Given the description of an element on the screen output the (x, y) to click on. 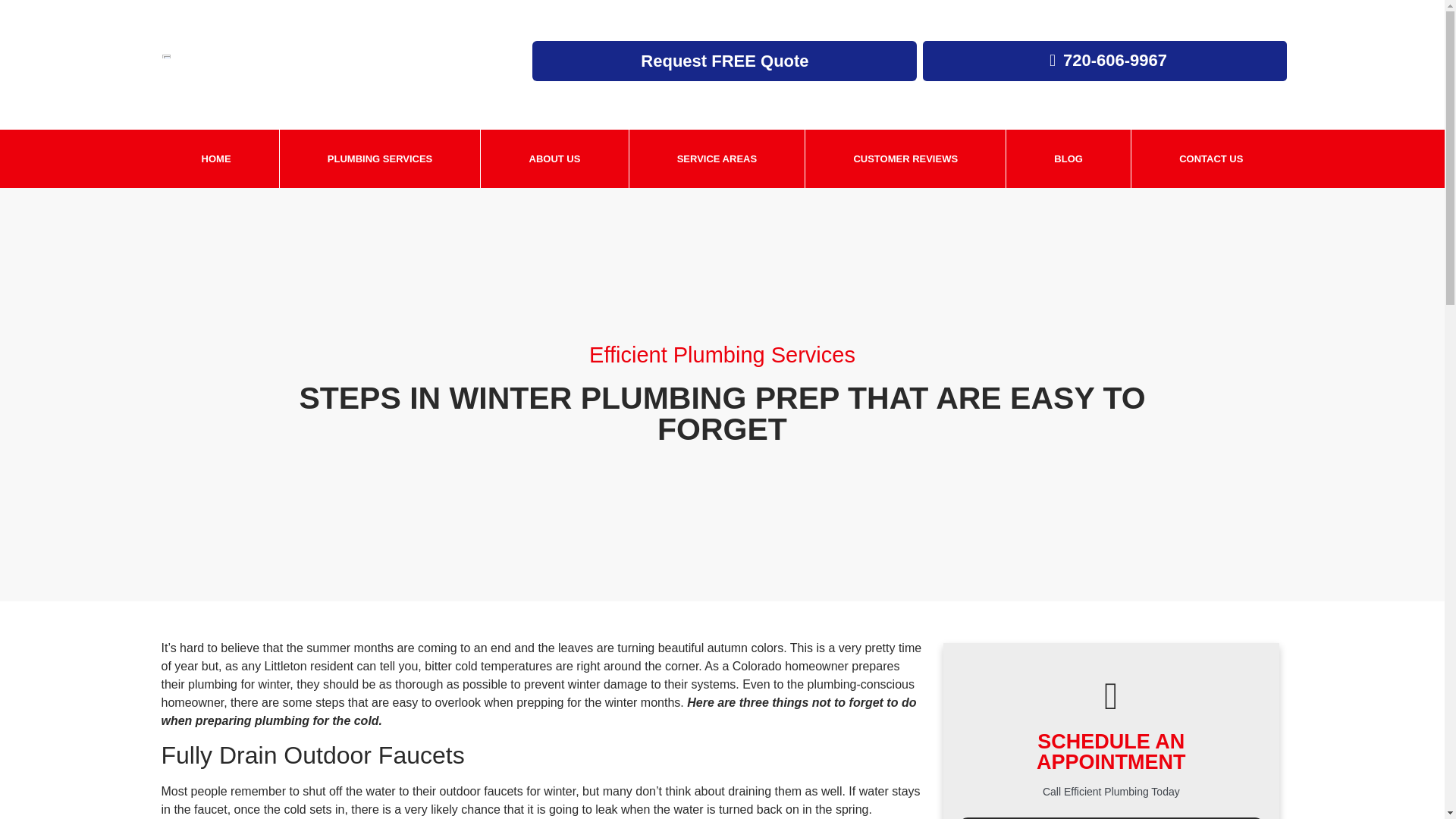
SERVICE AREAS (716, 158)
HOME (215, 158)
PLUMBING SERVICES (379, 158)
BLOG (1068, 158)
720-606-9967 (1108, 58)
CUSTOMER REVIEWS (905, 158)
Request FREE Quote (724, 60)
CONTACT US (1211, 158)
ABOUT US (553, 158)
